Given the description of an element on the screen output the (x, y) to click on. 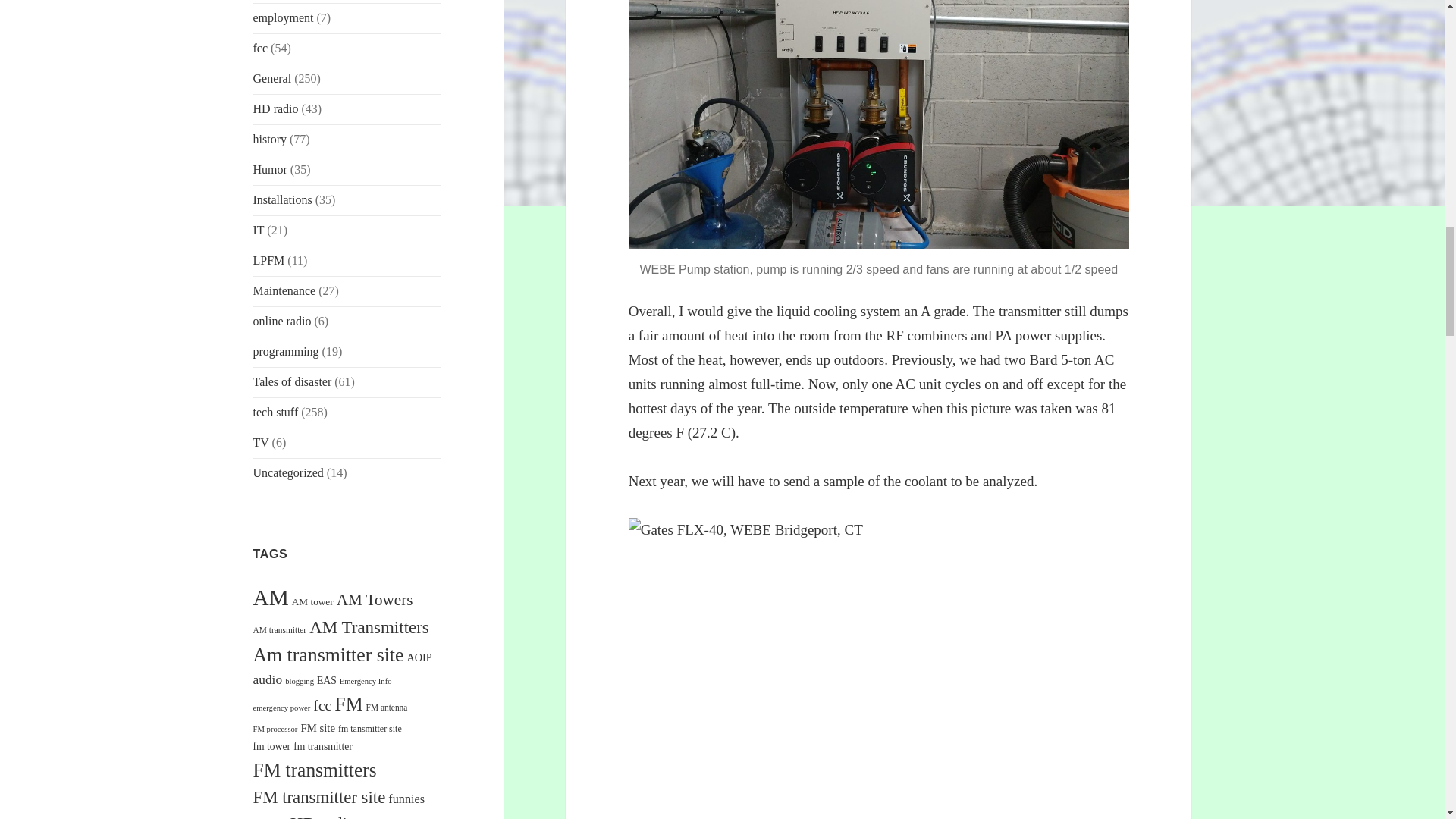
LPFM (269, 259)
employment (283, 17)
IT (258, 229)
HD radio (275, 108)
Humor (269, 169)
General (272, 78)
fcc (260, 47)
Maintenance (284, 290)
history (269, 138)
Installations (283, 199)
